Given the description of an element on the screen output the (x, y) to click on. 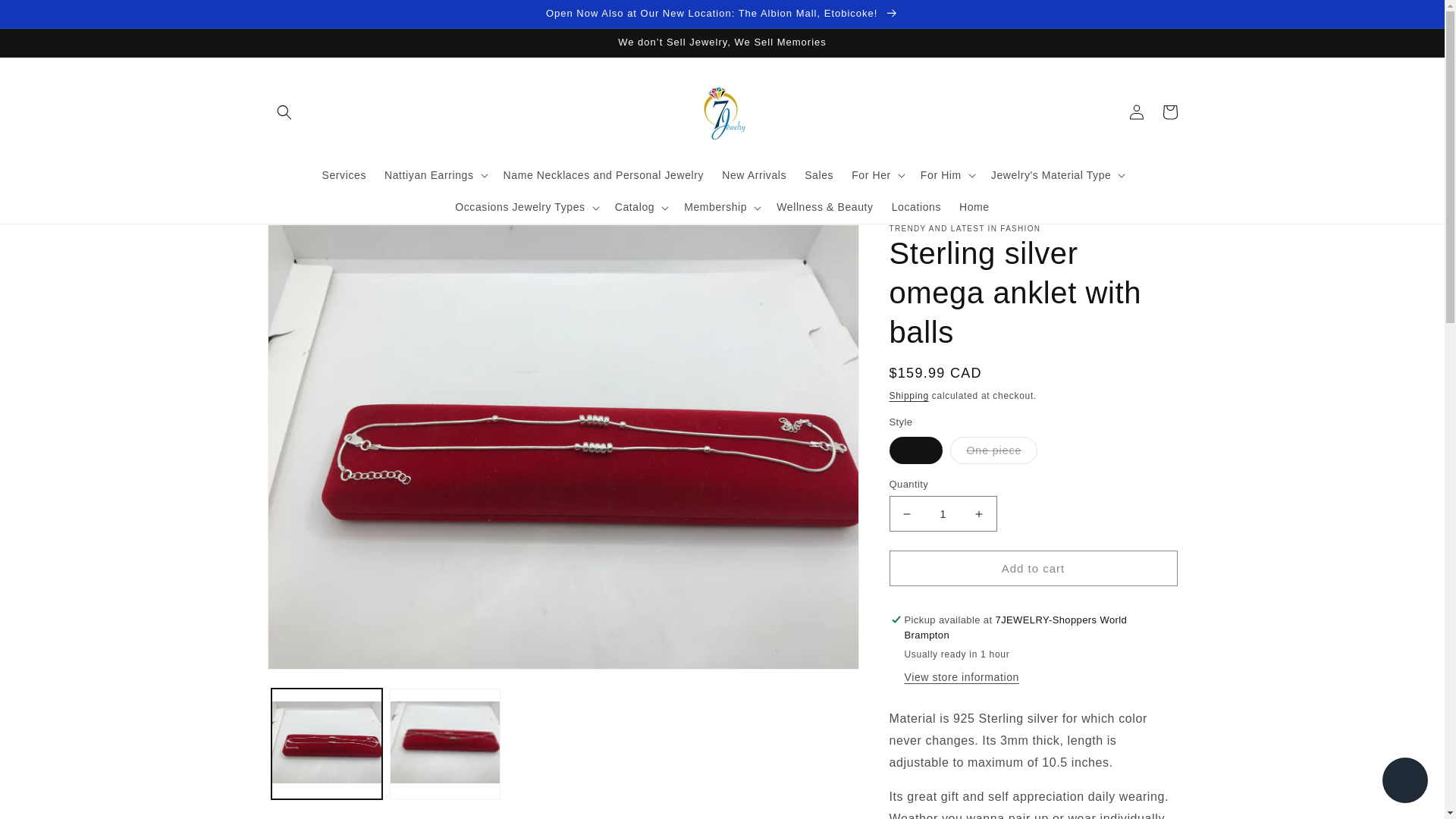
1 (941, 513)
Skip to content (45, 17)
Shopify online store chat (1404, 781)
